Given the description of an element on the screen output the (x, y) to click on. 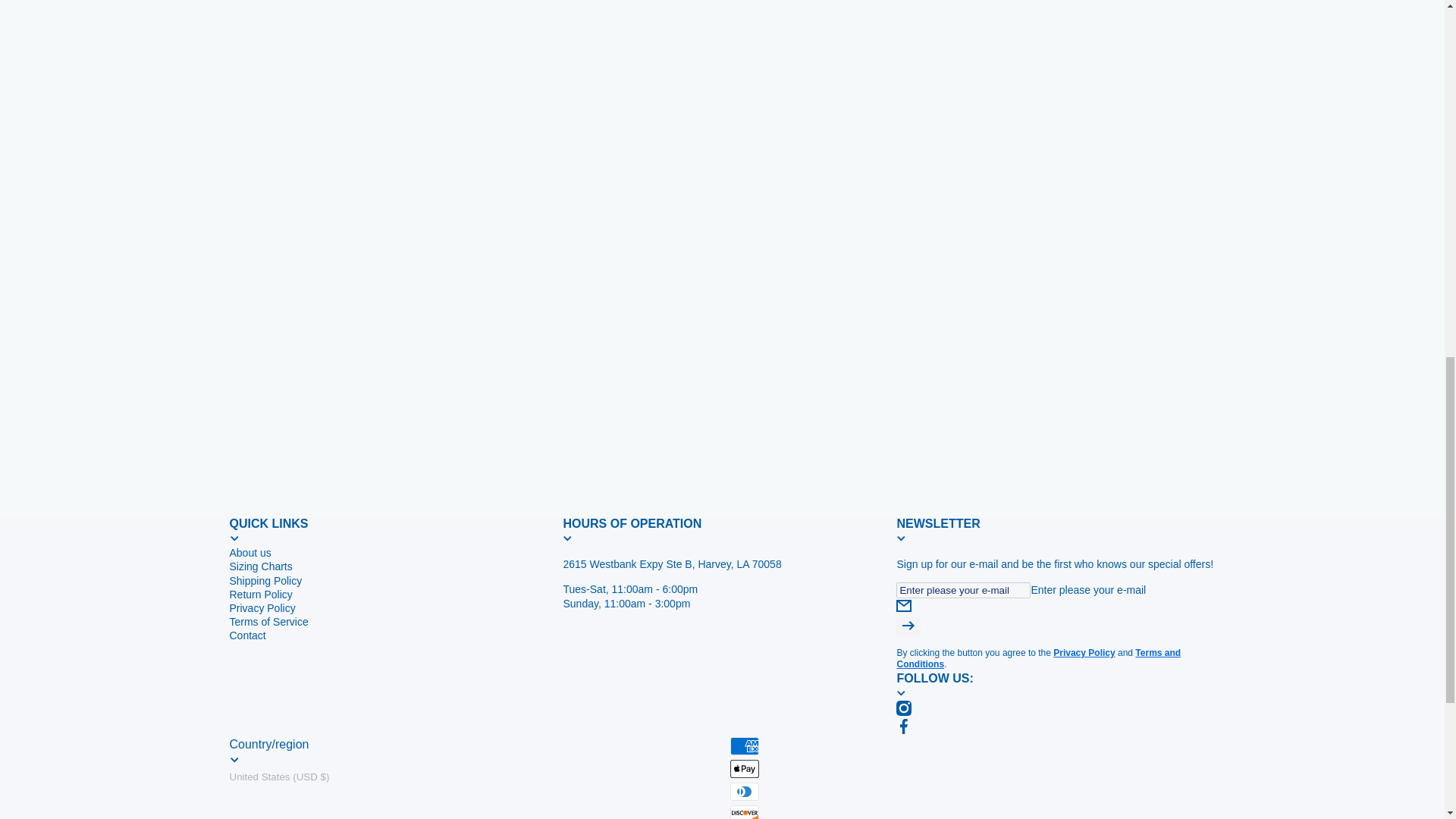
Discover (743, 812)
Diners Club (743, 791)
American Express (743, 746)
Apple Pay (743, 769)
